Given the description of an element on the screen output the (x, y) to click on. 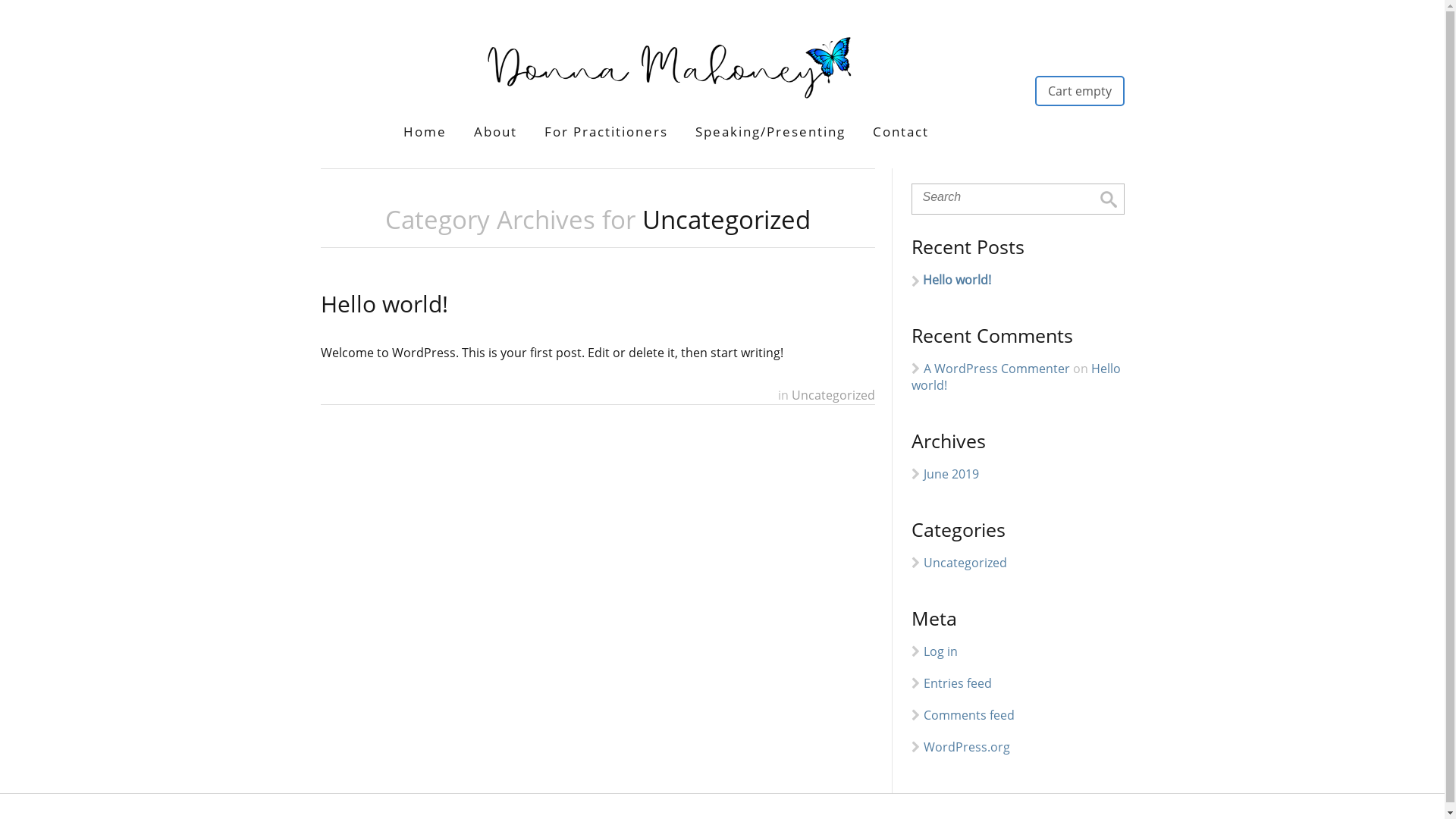
About Element type: text (495, 131)
For Practitioners Element type: text (605, 131)
Hello world! Element type: text (1015, 376)
Entries feed Element type: text (957, 682)
Hello world! Element type: text (1017, 279)
Contact Element type: text (900, 131)
Hello world! Element type: text (383, 303)
WordPress.org Element type: text (966, 746)
Speaking/Presenting Element type: text (770, 131)
Cart empty Element type: text (1079, 90)
Home Element type: text (424, 131)
Uncategorized Element type: text (965, 562)
Uncategorized Element type: text (833, 394)
Comments feed Element type: text (968, 714)
Log in Element type: text (940, 651)
A WordPress Commenter Element type: text (996, 368)
June 2019 Element type: text (951, 473)
